Given the description of an element on the screen output the (x, y) to click on. 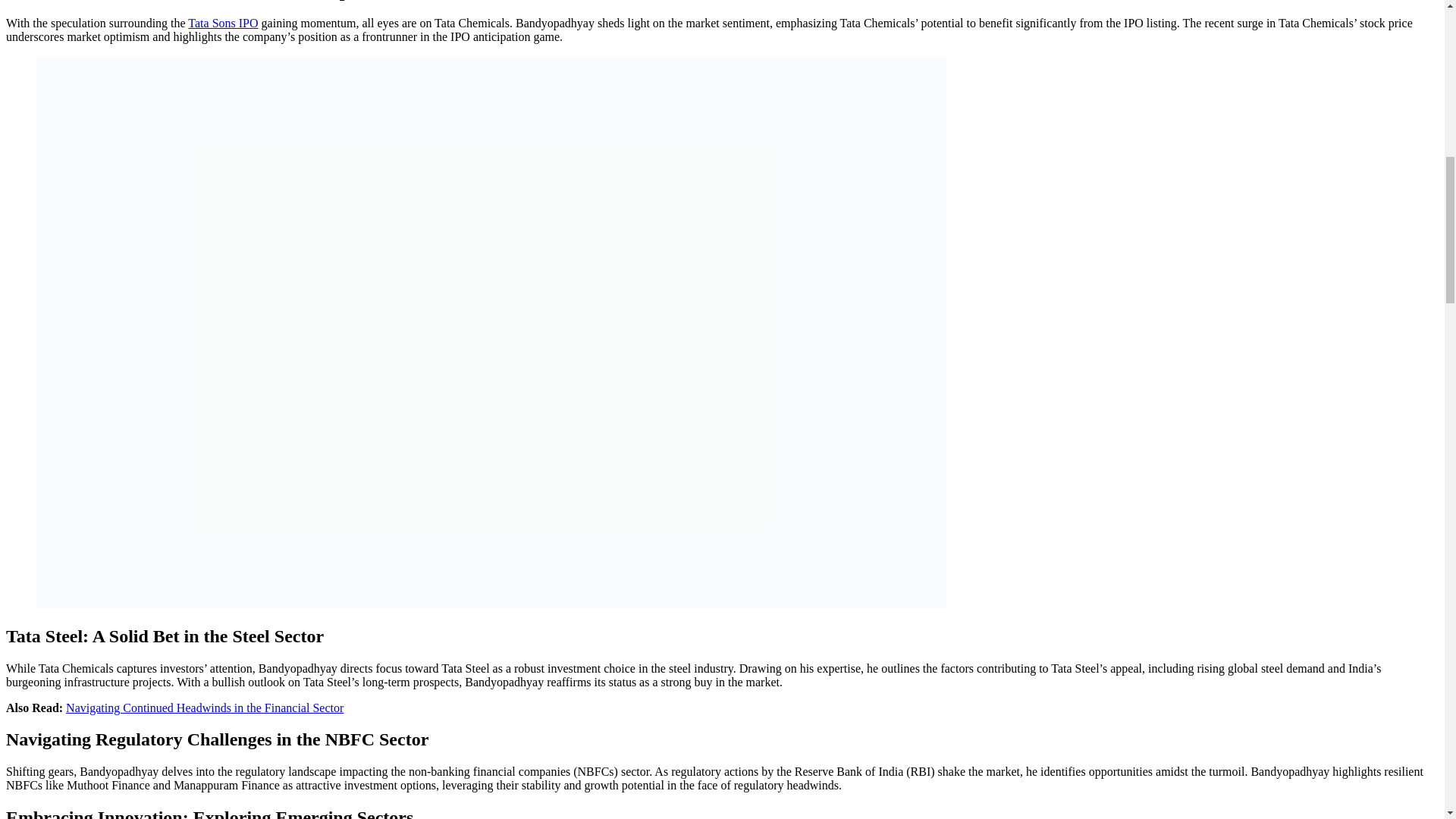
Tata Sons IPO (222, 22)
